Given the description of an element on the screen output the (x, y) to click on. 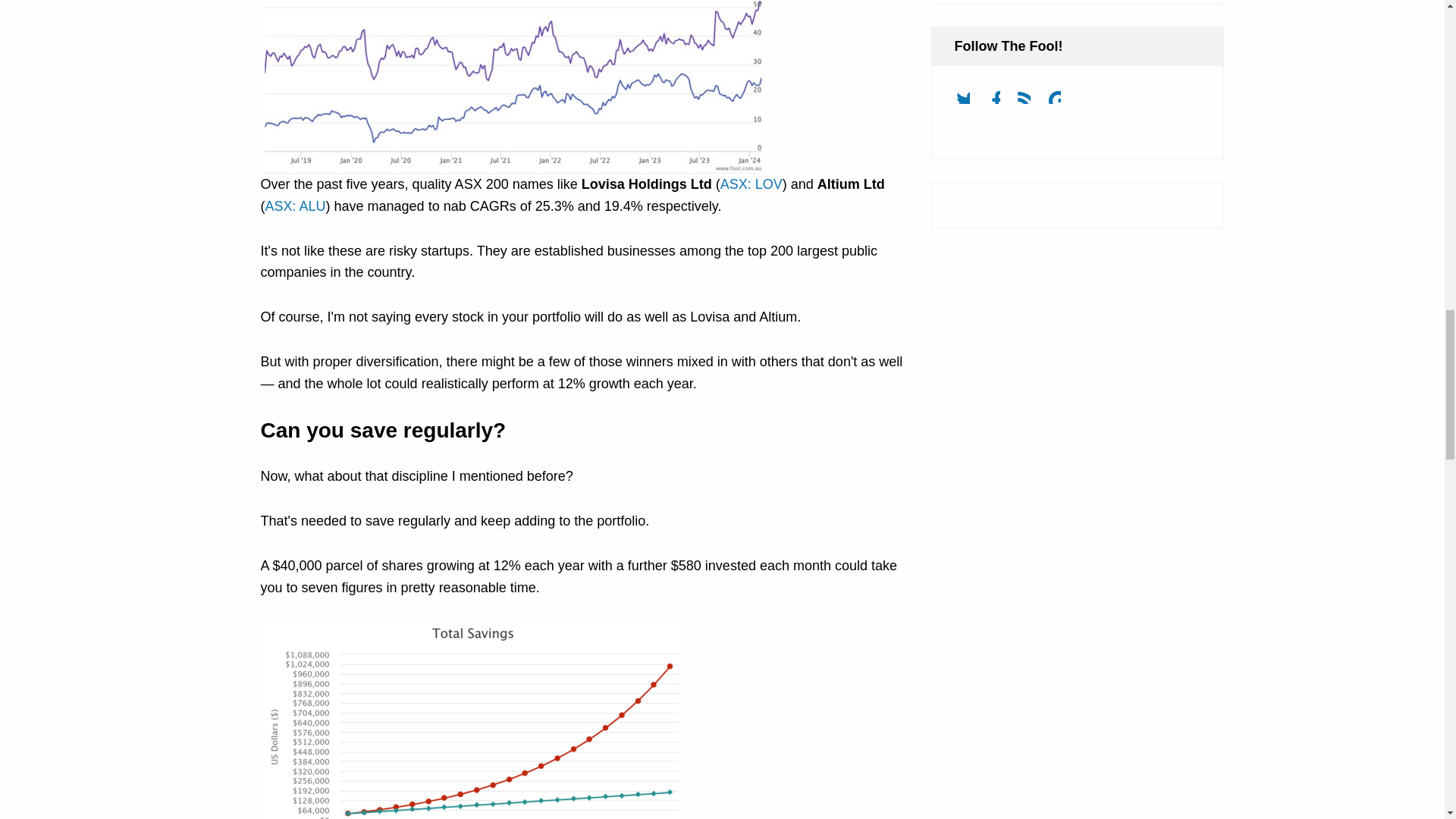
The Motley Fool RSS Feed (1029, 102)
The Motley Fool on Facebook (999, 102)
The Motley Fool on Twitter (968, 102)
The Motley Fool Google News Feed (1060, 102)
